Given the description of an element on the screen output the (x, y) to click on. 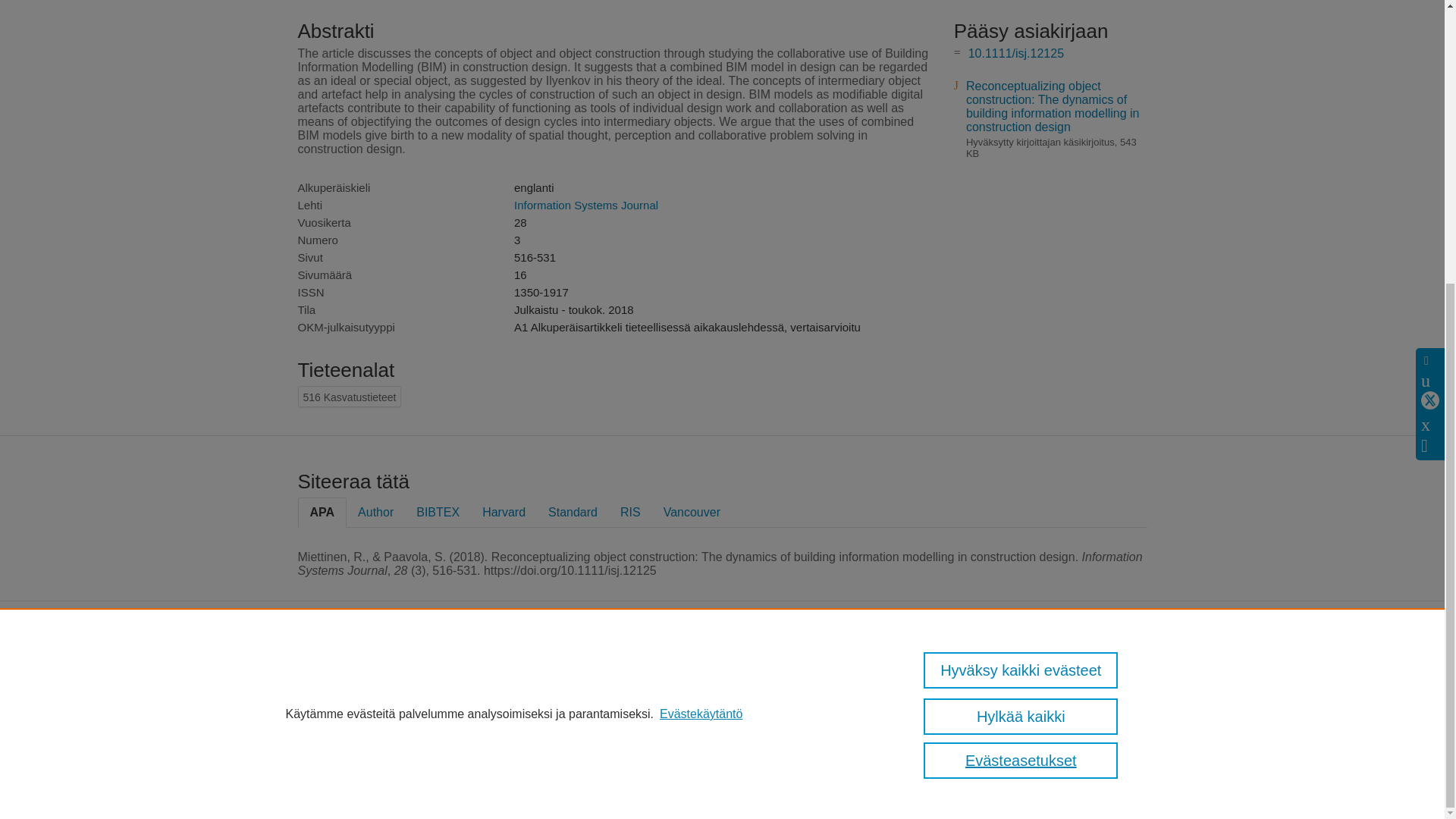
Kirjaudu Pureen (332, 781)
Scopus (413, 676)
Elsevier B.V. (536, 696)
Information Systems Journal (585, 205)
Pure (381, 676)
